Given the description of an element on the screen output the (x, y) to click on. 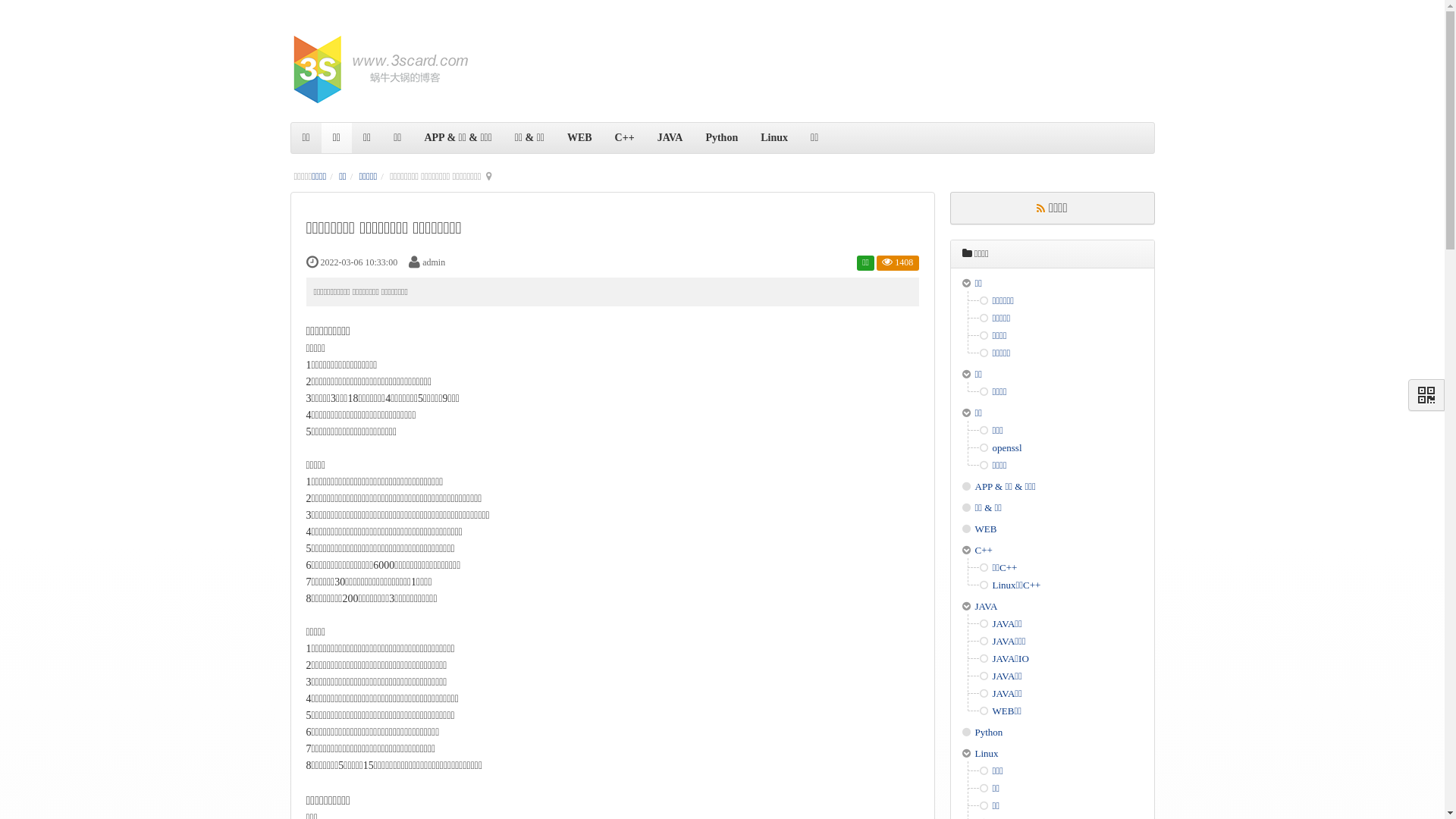
Python Element type: text (989, 731)
Python Element type: text (721, 137)
WEB Element type: text (579, 137)
JAVA Element type: text (670, 137)
JAVA Element type: text (986, 605)
C++ Element type: text (983, 549)
Linux Element type: text (774, 137)
WEB Element type: text (986, 528)
openssl Element type: text (1006, 447)
Linux Element type: text (986, 753)
C++ Element type: text (624, 137)
